Given the description of an element on the screen output the (x, y) to click on. 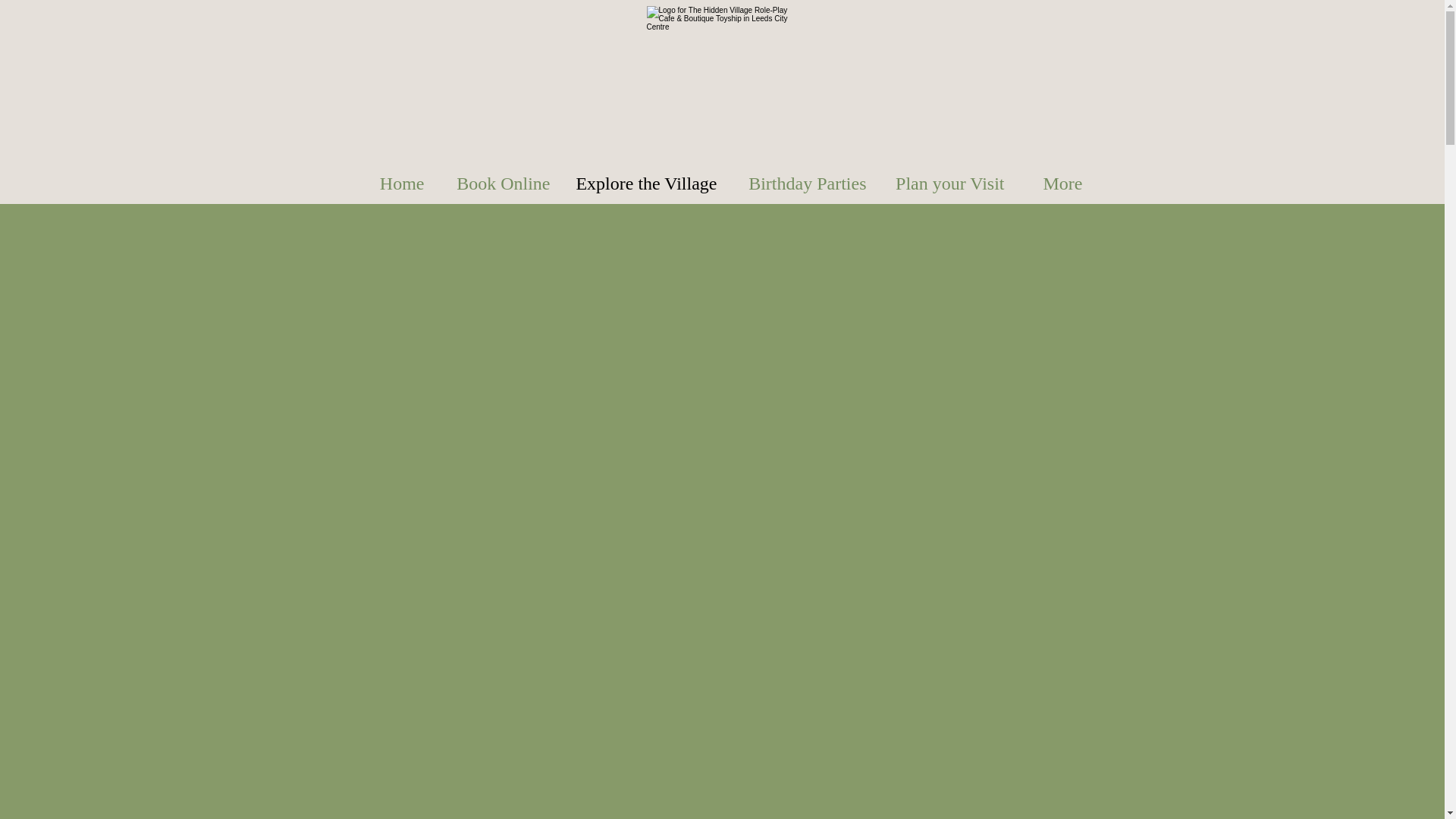
Plan your Visit (946, 182)
Home (392, 182)
Birthday Parties (802, 182)
Explore the Village (644, 182)
Book Online (497, 182)
